Given the description of an element on the screen output the (x, y) to click on. 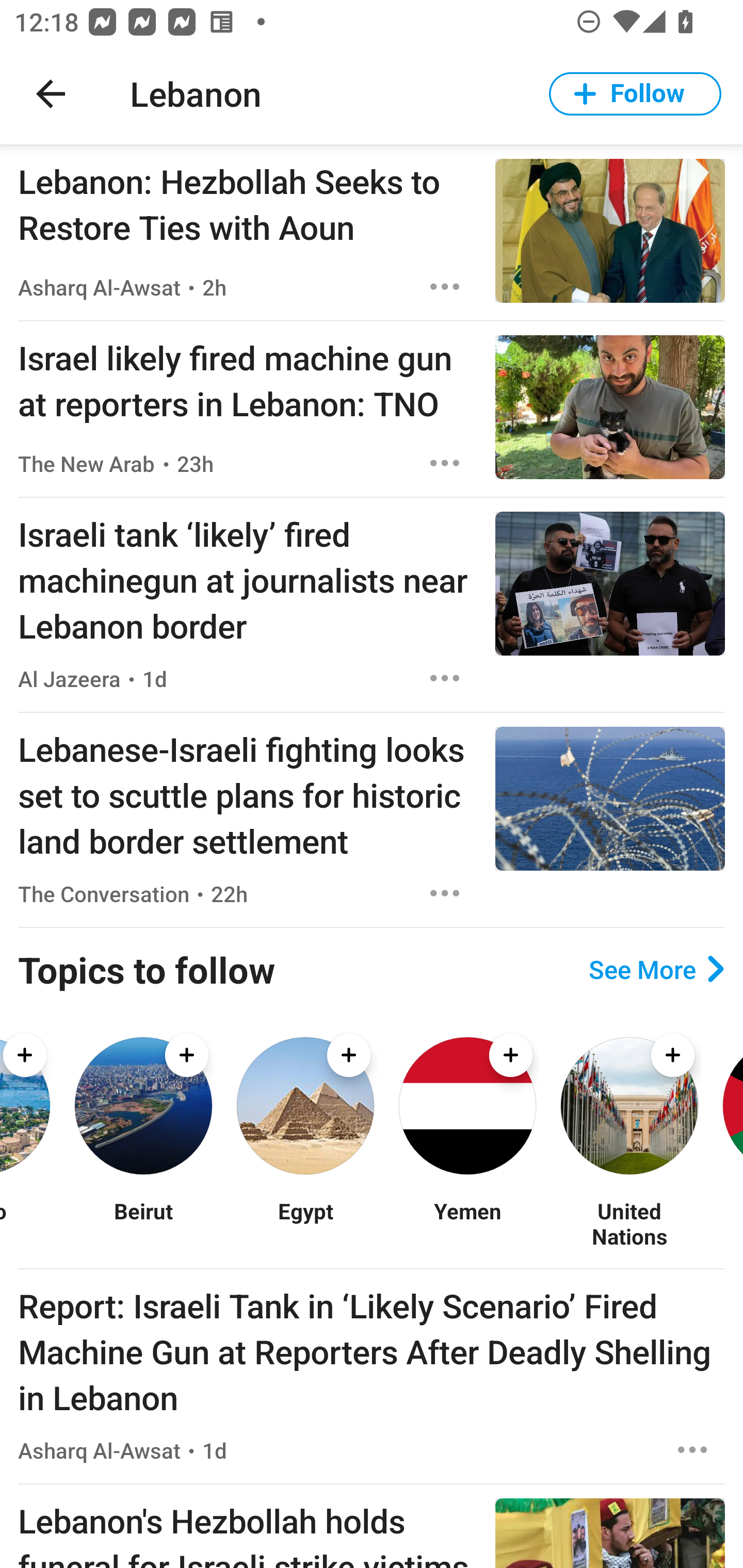
Navigate up (50, 93)
Follow (635, 94)
Options (444, 286)
Options (444, 463)
Options (444, 677)
Options (444, 893)
See More (656, 968)
Beirut (143, 1223)
Egypt (305, 1223)
Yemen (467, 1223)
United Nations (629, 1223)
Options (692, 1449)
